Given the description of an element on the screen output the (x, y) to click on. 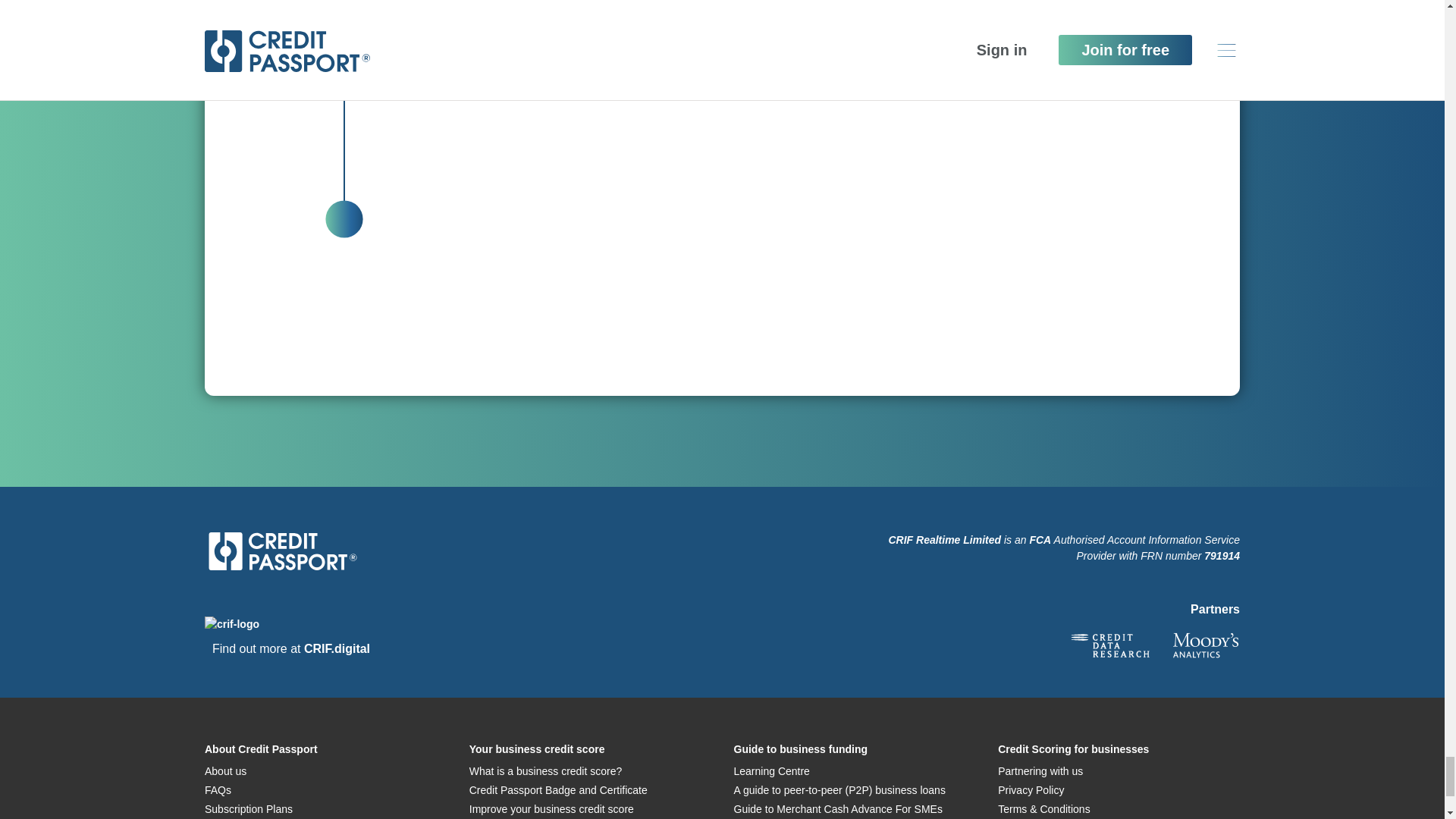
Partnering with us (1040, 770)
Improve your business credit score (550, 808)
What is a business credit score? (545, 770)
CRIF.digital (336, 648)
Privacy Policy (1030, 789)
Learning Centre (771, 770)
791914 (1222, 555)
Guide to Merchant Cash Advance For SMEs (837, 808)
About us (225, 770)
Subscription Plans (248, 808)
